Given the description of an element on the screen output the (x, y) to click on. 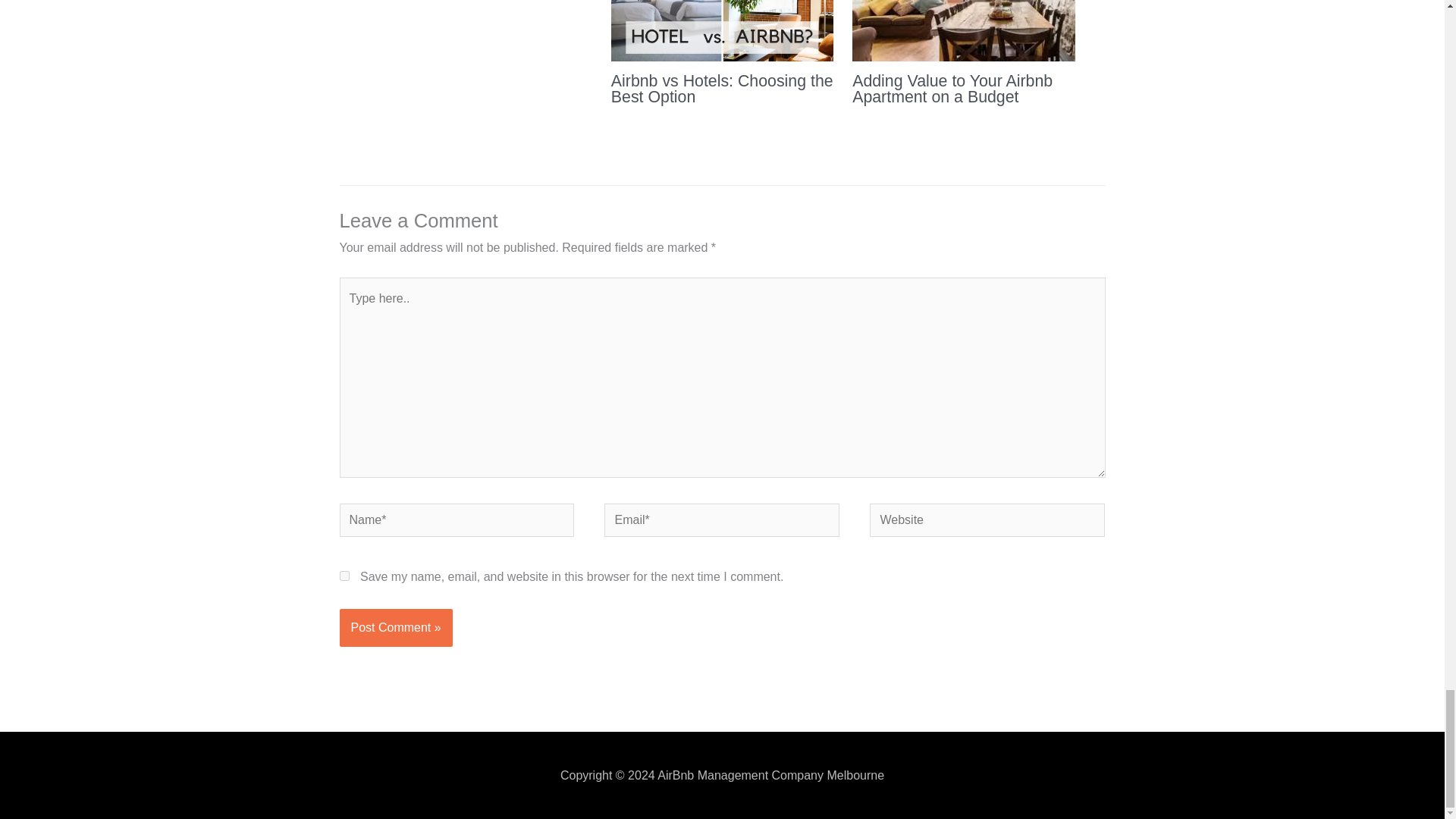
yes (344, 575)
